Given the description of an element on the screen output the (x, y) to click on. 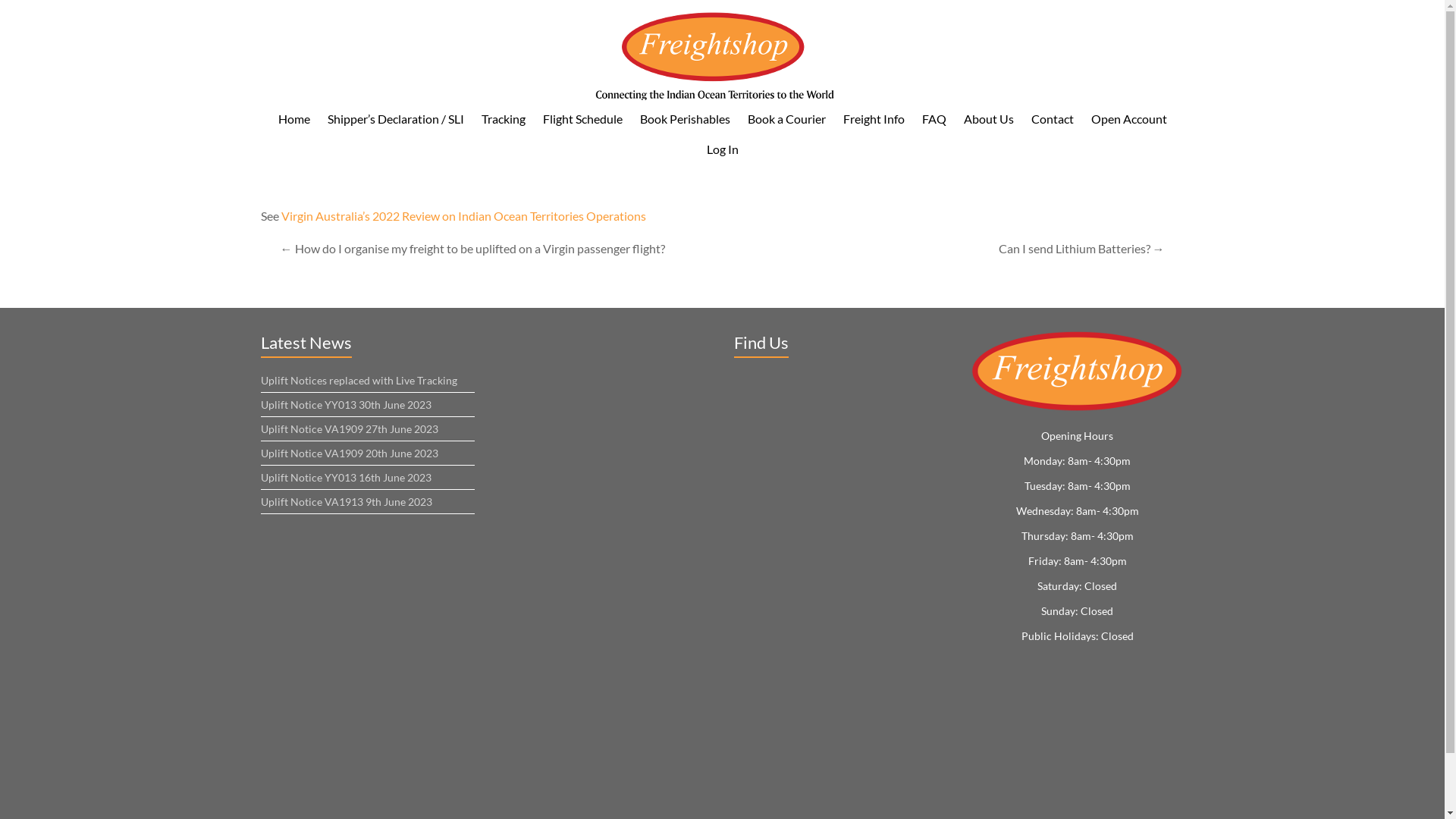
Log In Element type: text (722, 149)
Tracking Element type: text (502, 118)
Home Element type: text (292, 118)
Uplift Notice YY013 30th June 2023 Element type: text (345, 404)
Book a Courier Element type: text (786, 118)
Flight Schedule Element type: text (582, 118)
Uplift Notice VA1913 9th June 2023 Element type: text (346, 501)
Open Account Element type: text (1127, 118)
Book Perishables Element type: text (684, 118)
Uplift Notice YY013 16th June 2023 Element type: text (345, 476)
About Us Element type: text (987, 118)
Contact Element type: text (1052, 118)
FAQ Element type: text (933, 118)
Uplift Notices replaced with Live Tracking Element type: text (358, 379)
Uplift Notice VA1909 20th June 2023 Element type: text (349, 452)
Freightshop Element type: text (919, 31)
Uplift Notice VA1909 27th June 2023 Element type: text (349, 428)
Freight Info Element type: text (873, 118)
